Given the description of an element on the screen output the (x, y) to click on. 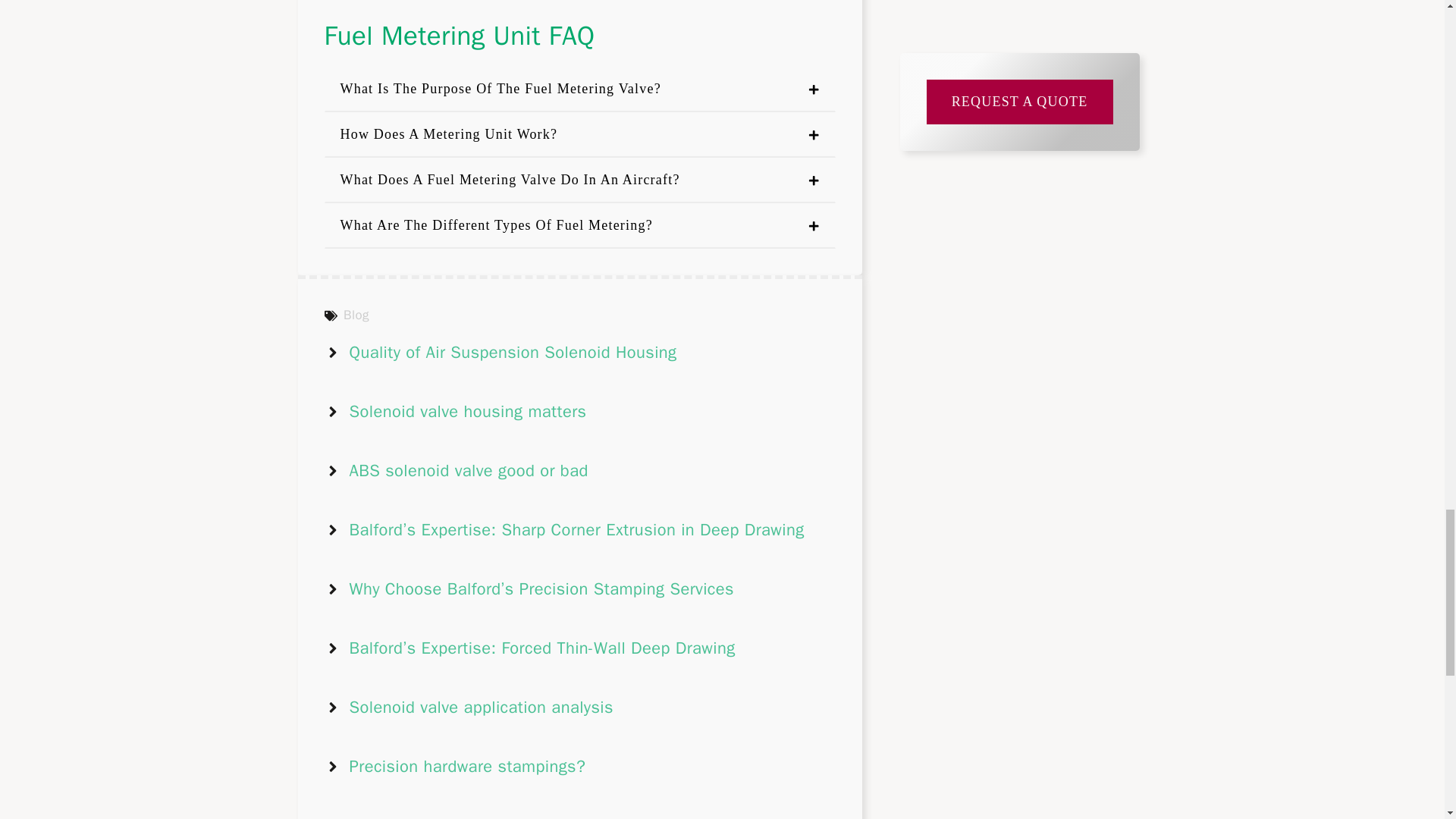
Quality of Air Suspension Solenoid Housing (513, 352)
Precision hardware stampings? (467, 766)
Metal working defects! (434, 816)
What Is The Purpose Of The Fuel Metering Valve? (579, 89)
How Does A Metering Unit Work? (579, 135)
Blog (356, 314)
What Are The Different Types Of Fuel Metering? (579, 225)
Solenoid valve housing matters (467, 411)
What Does A Fuel Metering Valve Do In An Aircraft? (579, 180)
Solenoid valve application analysis (480, 707)
